Given the description of an element on the screen output the (x, y) to click on. 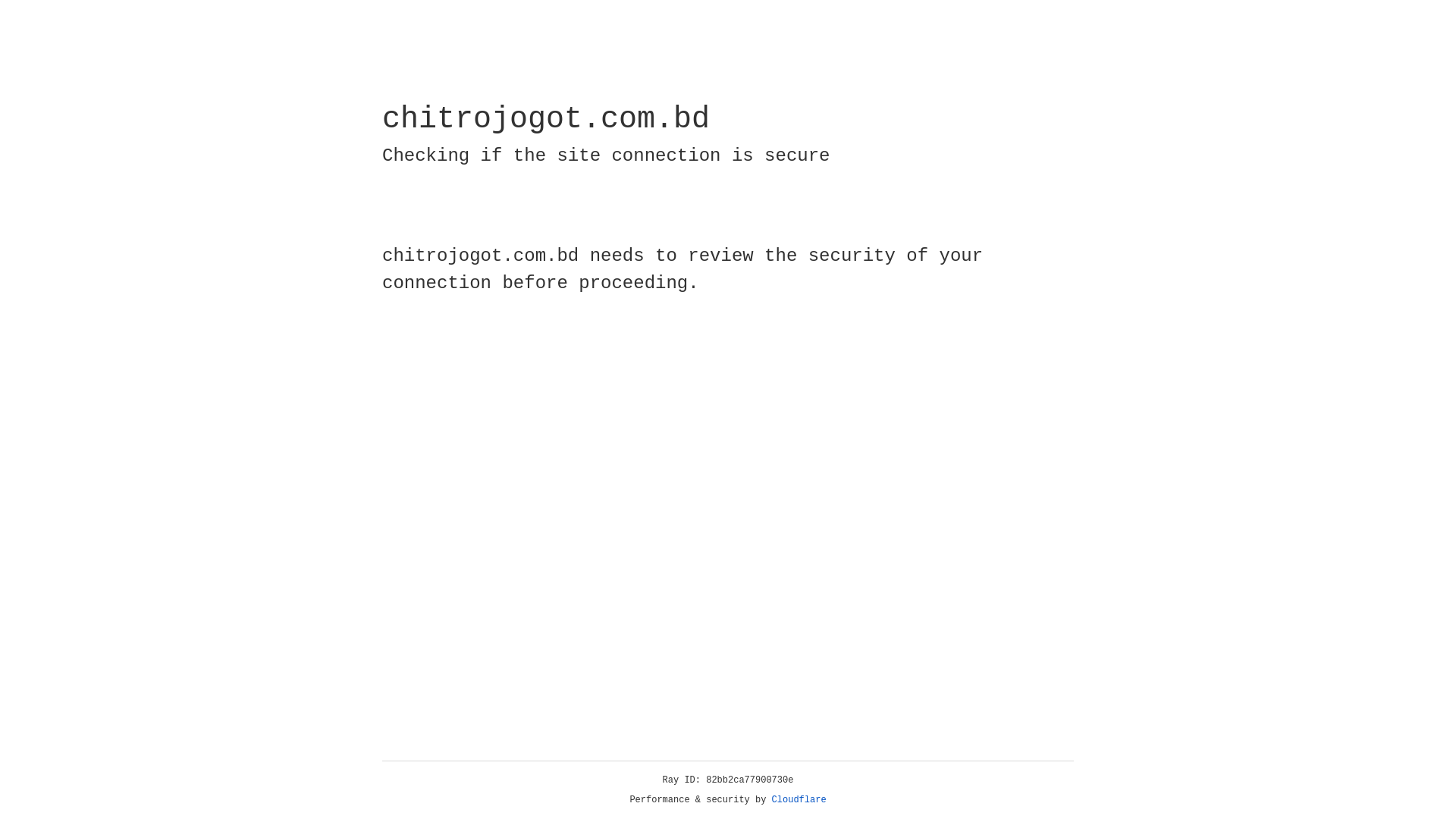
Cloudflare Element type: text (798, 799)
